Given the description of an element on the screen output the (x, y) to click on. 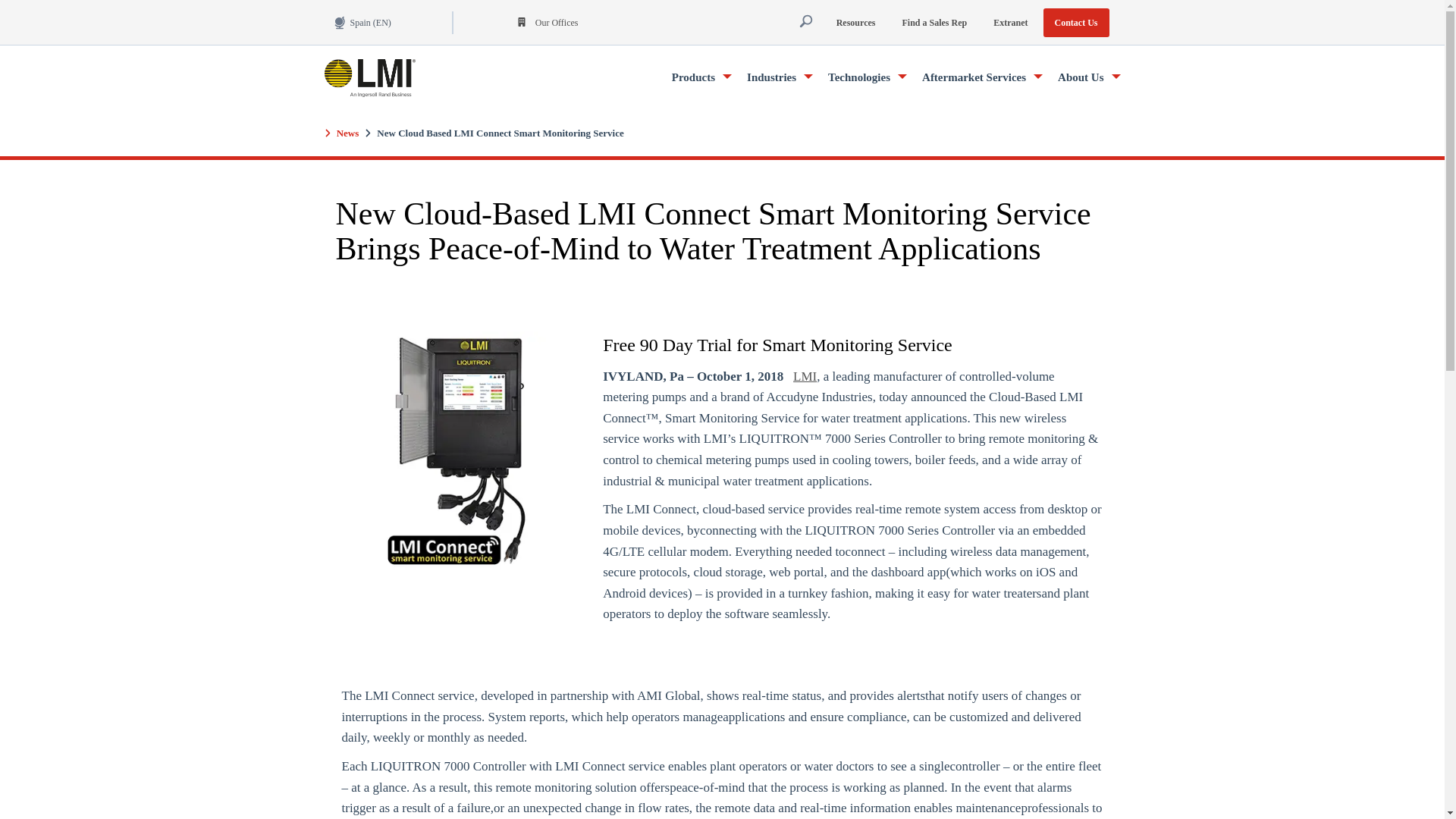
Contact Us (1076, 21)
Products (701, 77)
Extranet (1010, 21)
Resources (855, 21)
Find a Sales Rep (933, 21)
Our Offices (542, 21)
